Given the description of an element on the screen output the (x, y) to click on. 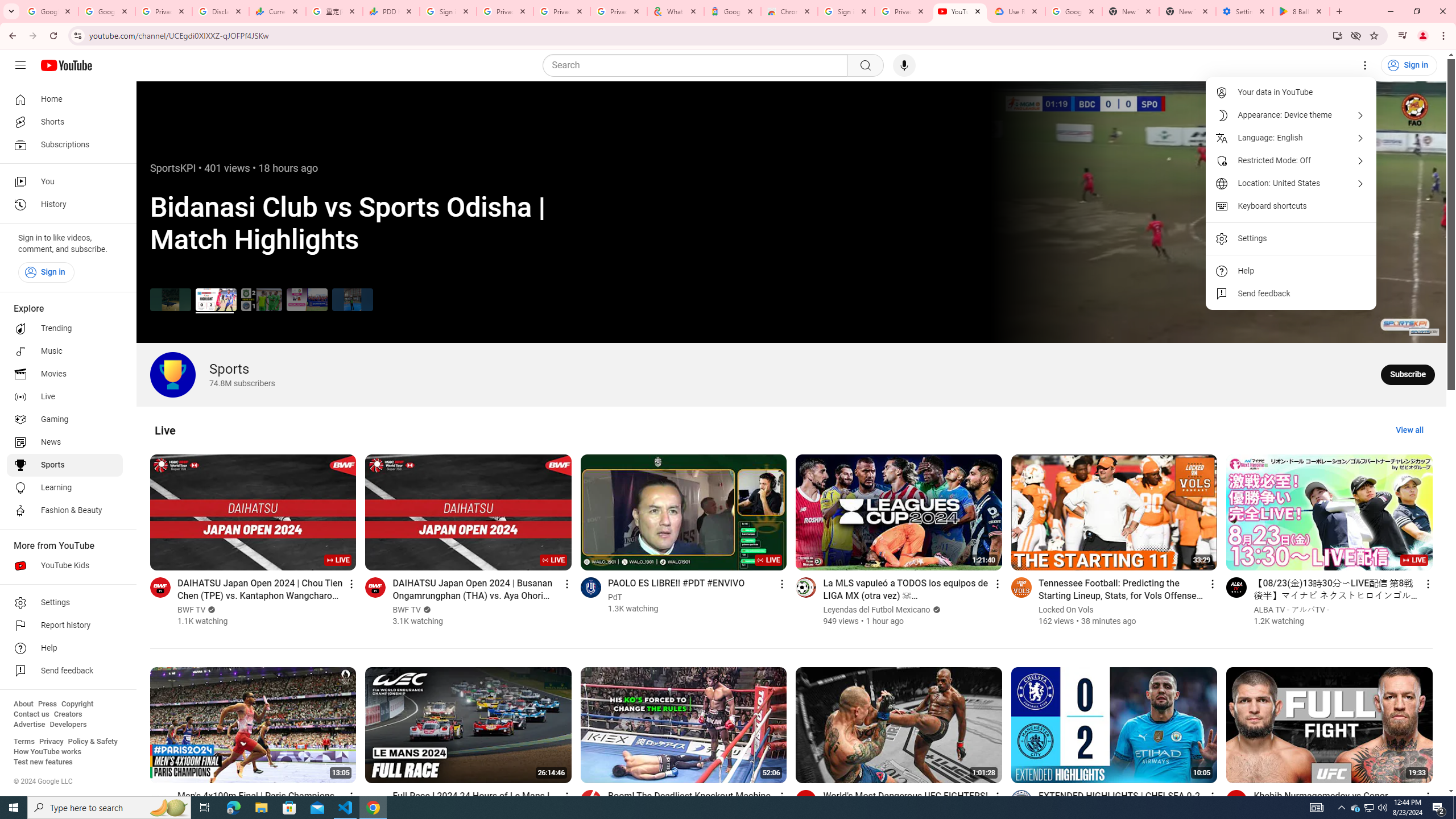
Verified (935, 610)
Privacy (51, 741)
Test new features (42, 761)
Language: English (1291, 137)
Fashion & Beauty (64, 510)
Copyright (77, 703)
BWF TV (407, 609)
Search with your voice (903, 65)
Leyendas del Futbol Mexicano (876, 609)
